Given the description of an element on the screen output the (x, y) to click on. 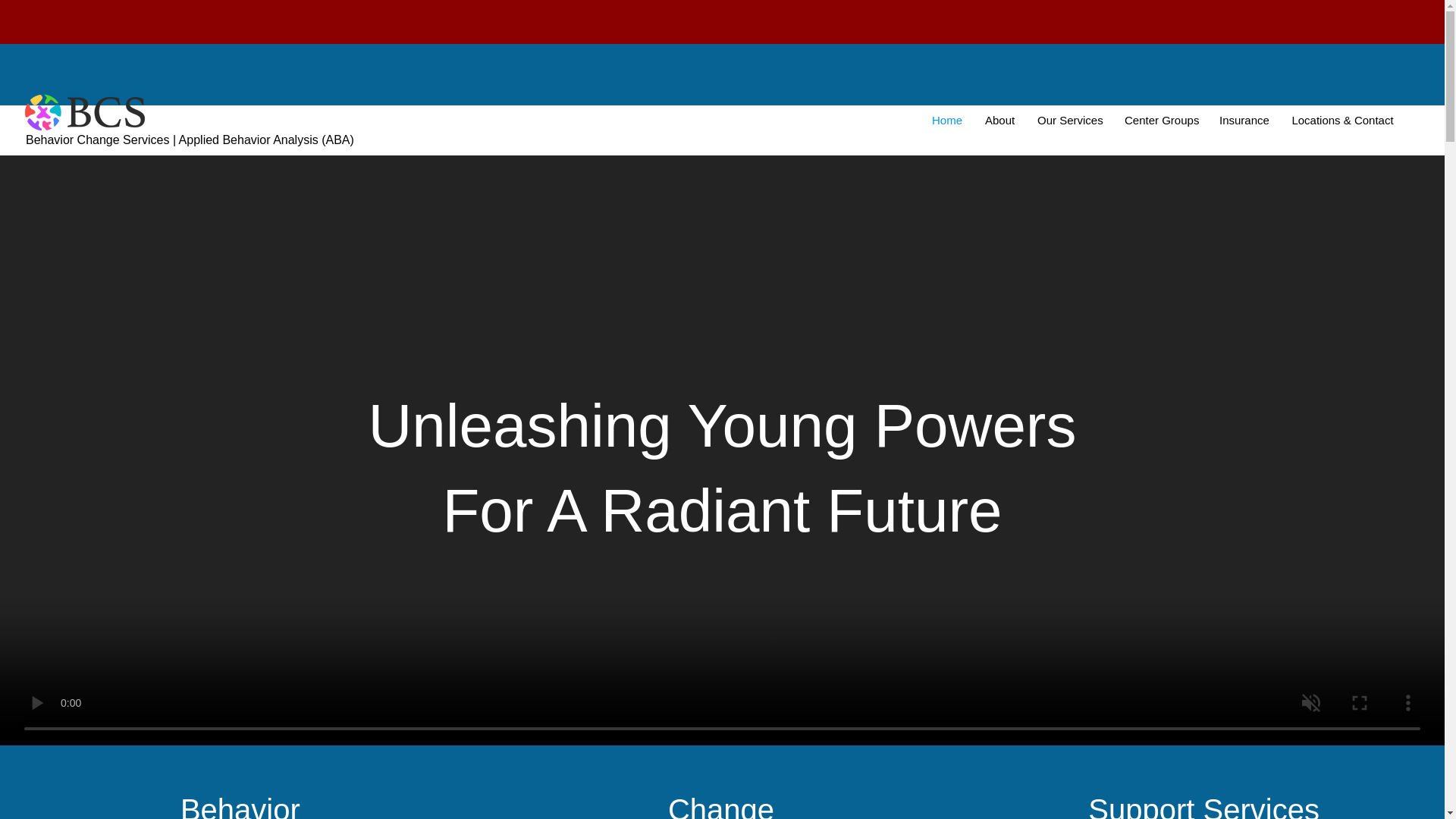
Home (947, 120)
About (1000, 120)
Center Groups (1160, 120)
Insurance (1243, 120)
